Given the description of an element on the screen output the (x, y) to click on. 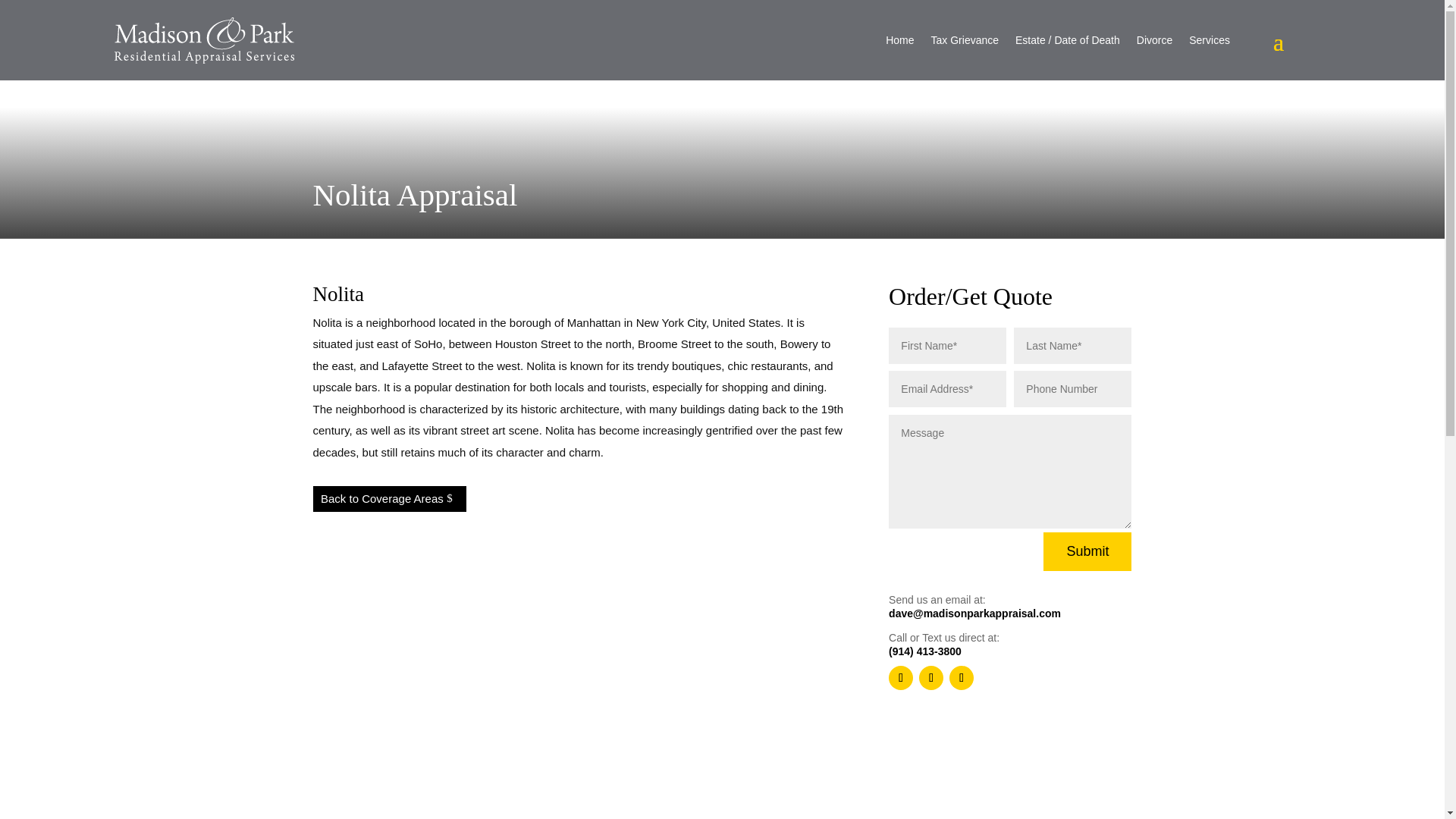
Tax Grievance (964, 39)
Follow on LinkedIn (961, 677)
Follow on Facebook (900, 677)
Follow on X (930, 677)
Back to Coverage Areas (389, 499)
Submit (1087, 551)
